Given the description of an element on the screen output the (x, y) to click on. 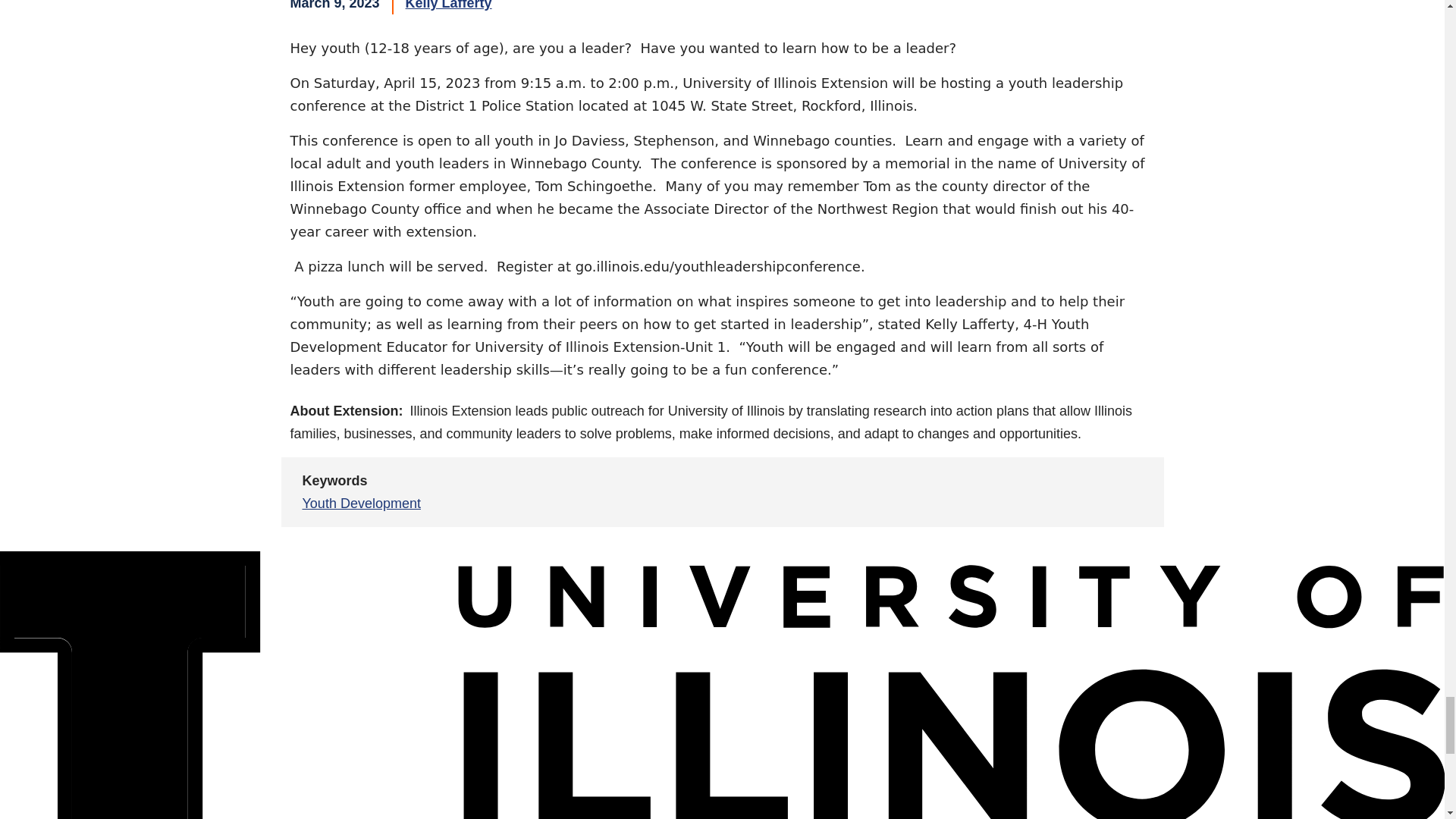
Share to Facebook (990, 491)
Youth Development (360, 503)
Kelly Lafferty (449, 5)
Share to Linkedin (1063, 491)
Share to X (1026, 491)
Share to Email (1099, 491)
